Given the description of an element on the screen output the (x, y) to click on. 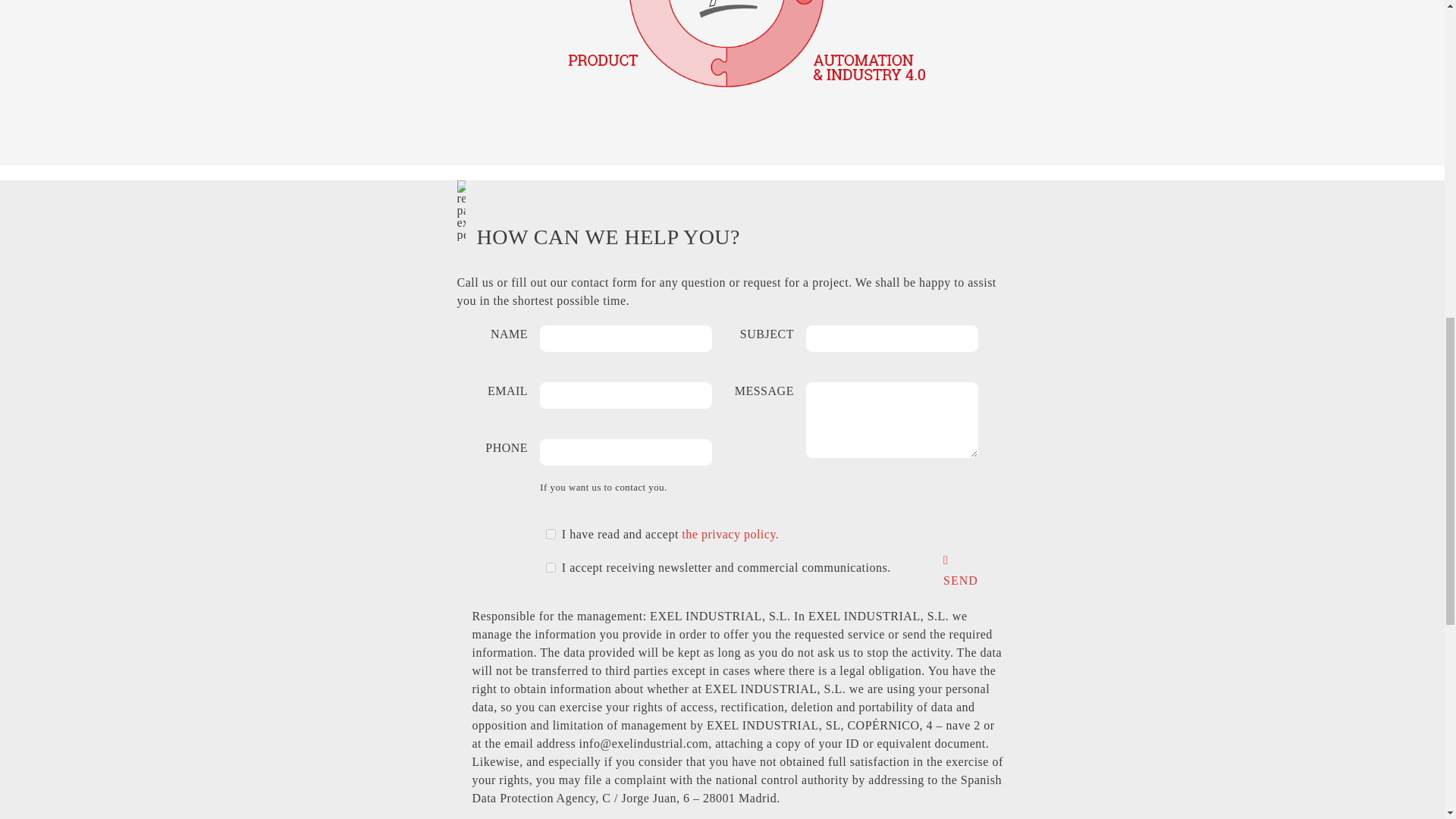
1 (551, 533)
Send (960, 580)
1 (551, 567)
